Given the description of an element on the screen output the (x, y) to click on. 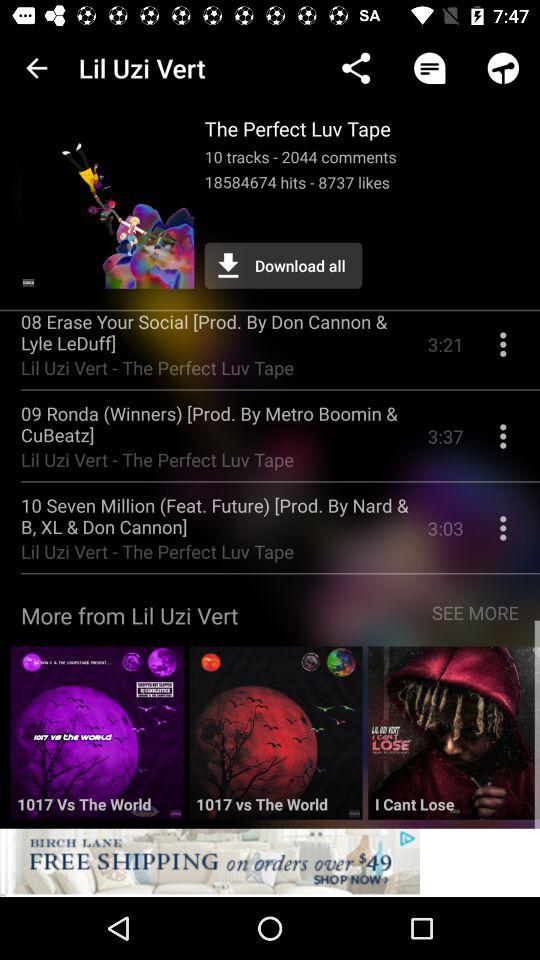
expand song details (503, 535)
